Given the description of an element on the screen output the (x, y) to click on. 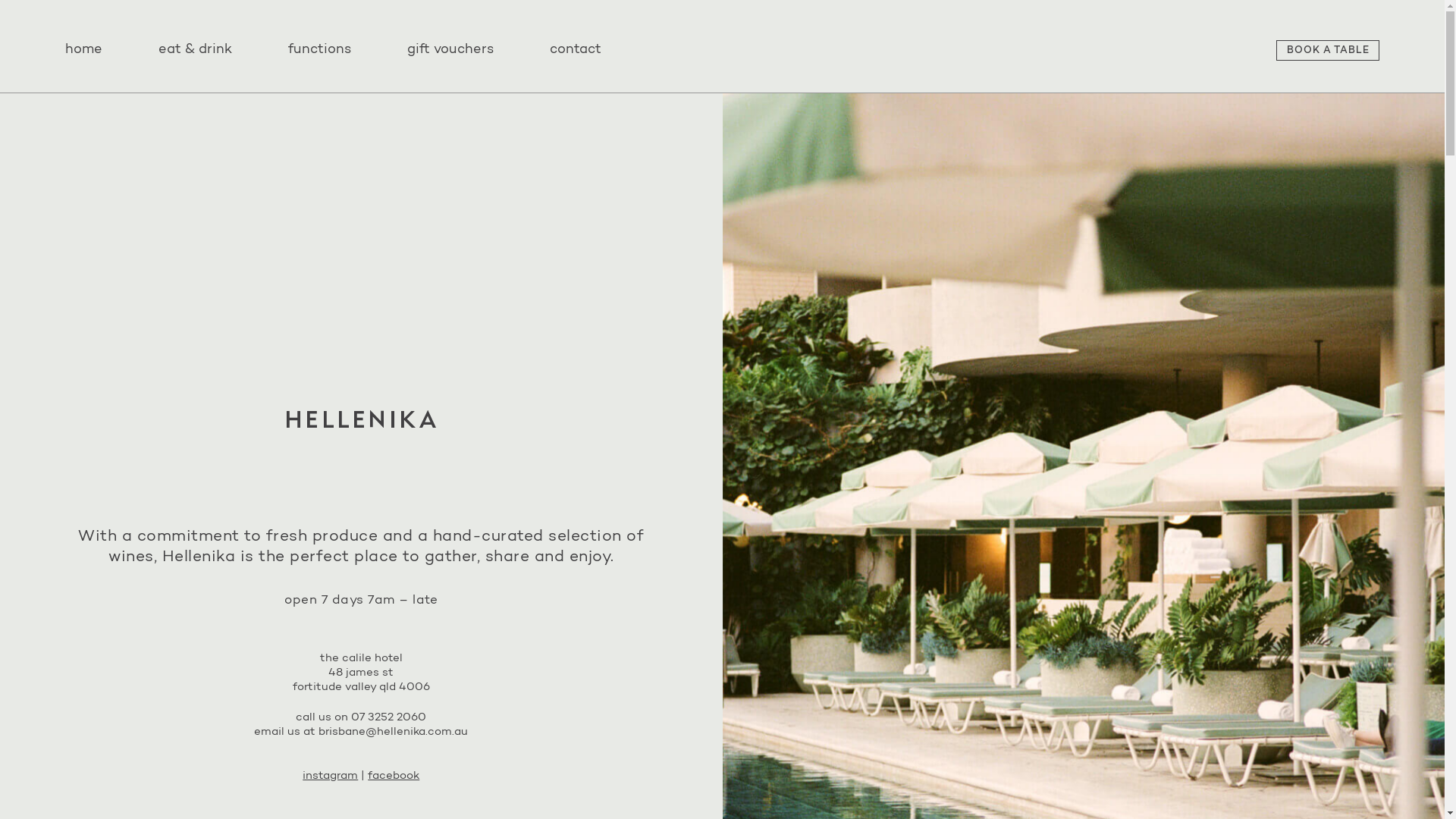
BOOK A TABLE Element type: text (1327, 50)
contact Element type: text (575, 50)
gift vouchers Element type: text (450, 50)
eat & drink Element type: text (195, 50)
home Element type: text (89, 50)
functions Element type: text (319, 50)
instagram Element type: text (329, 775)
BACK
TO TOP Element type: text (1381, 763)
07 3252 2060 Element type: text (388, 717)
facebook Element type: text (393, 775)
brisbane@hellenika.com.au Element type: text (392, 731)
